Given the description of an element on the screen output the (x, y) to click on. 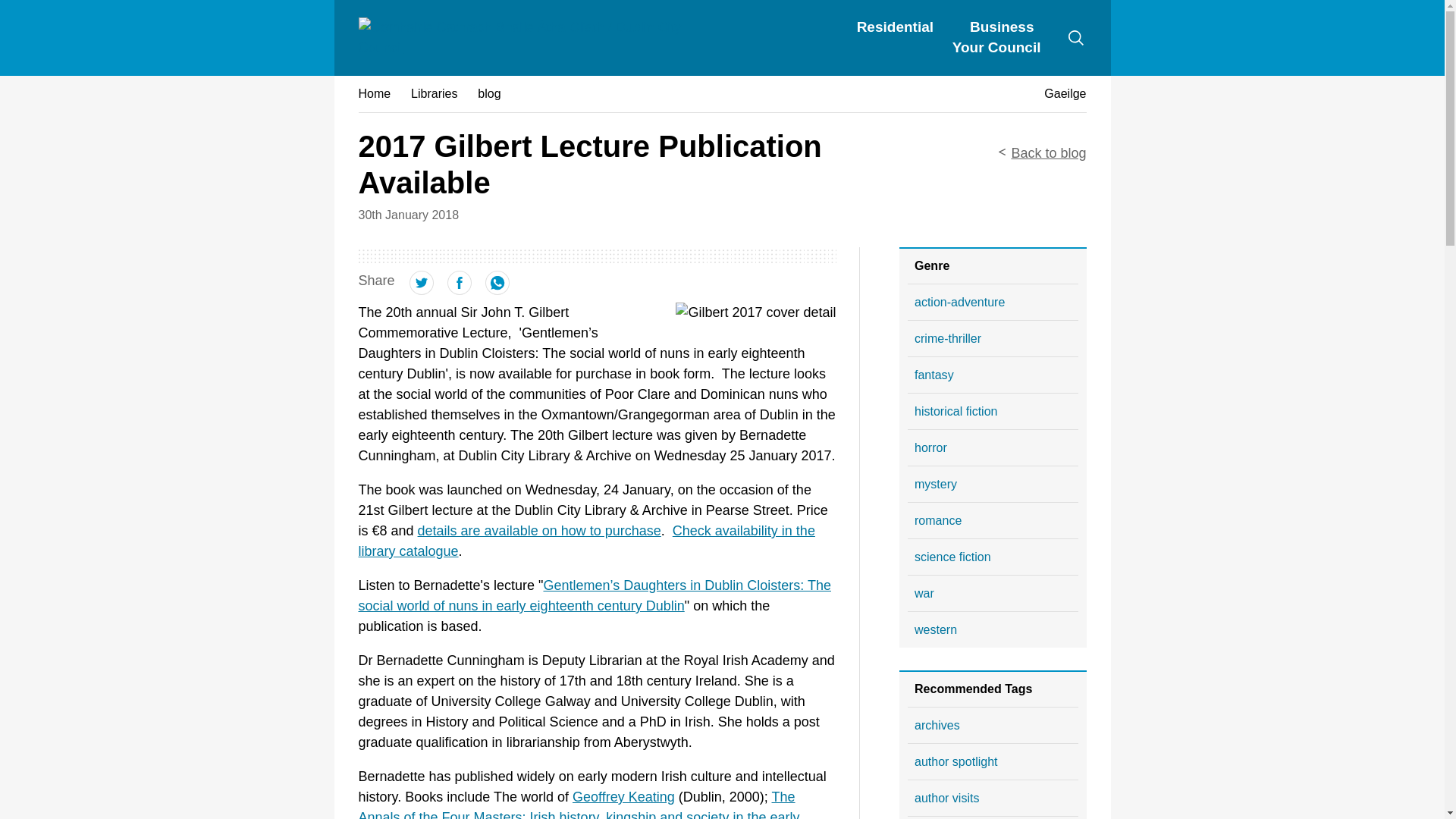
Business (1001, 26)
Gaeilge (1064, 92)
horror (992, 447)
Geoffrey Keating (623, 796)
Share via WhatsApp (496, 290)
Your Council (996, 47)
Residential (895, 26)
Check availability in the library catalogue (585, 540)
Home (374, 92)
crime-thriller (992, 338)
historical fiction (992, 411)
Libraries (433, 92)
Publications for sale (539, 530)
fantasy (992, 374)
